Given the description of an element on the screen output the (x, y) to click on. 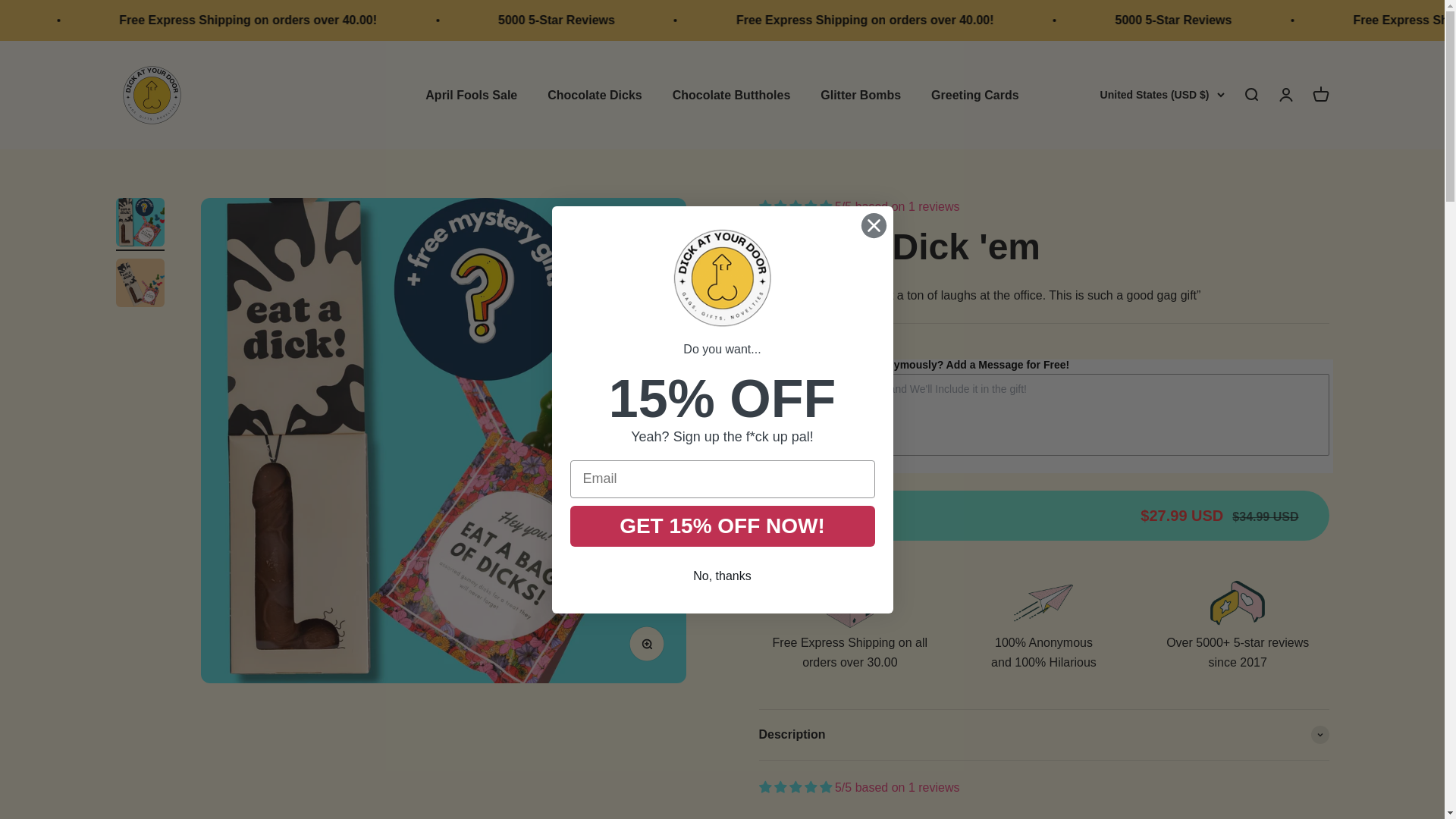
Greeting Cards (975, 93)
5000 5-Star Reviews (143, 19)
Chocolate Buttholes (731, 93)
Glitter Bombs (861, 93)
Free Express Shipping on orders over 40.00! (450, 19)
Free Express Shipping on orders over 40.00! (1064, 19)
April Fools Sale (470, 93)
Chocolate Dicks (594, 93)
DickAtYourDoor (151, 94)
5000 5-Star Reviews (756, 19)
5000 5-Star Reviews (1371, 19)
